Given the description of an element on the screen output the (x, y) to click on. 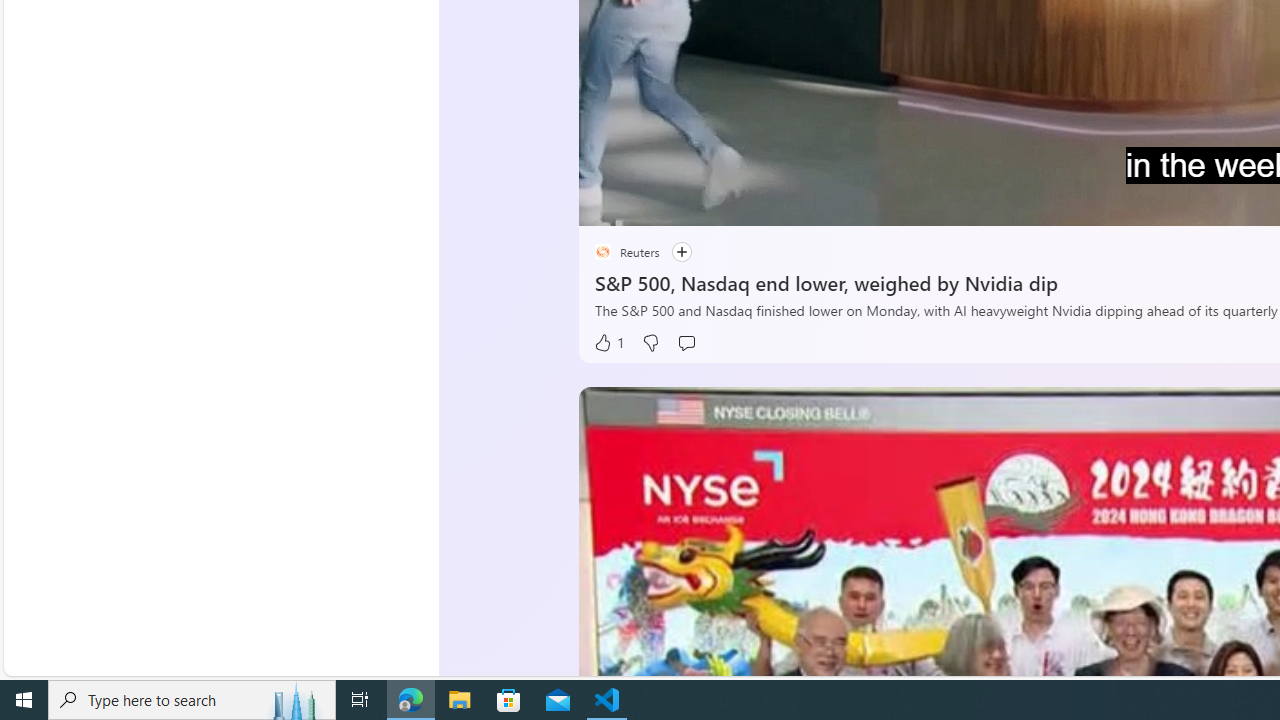
Seek Forward (688, 203)
To get missing image descriptions, open the context menu. (648, 202)
Seek Back (648, 203)
placeholder (601, 252)
placeholder Reuters (626, 252)
1 Like (608, 343)
Follow (670, 251)
Pause (607, 203)
